Given the description of an element on the screen output the (x, y) to click on. 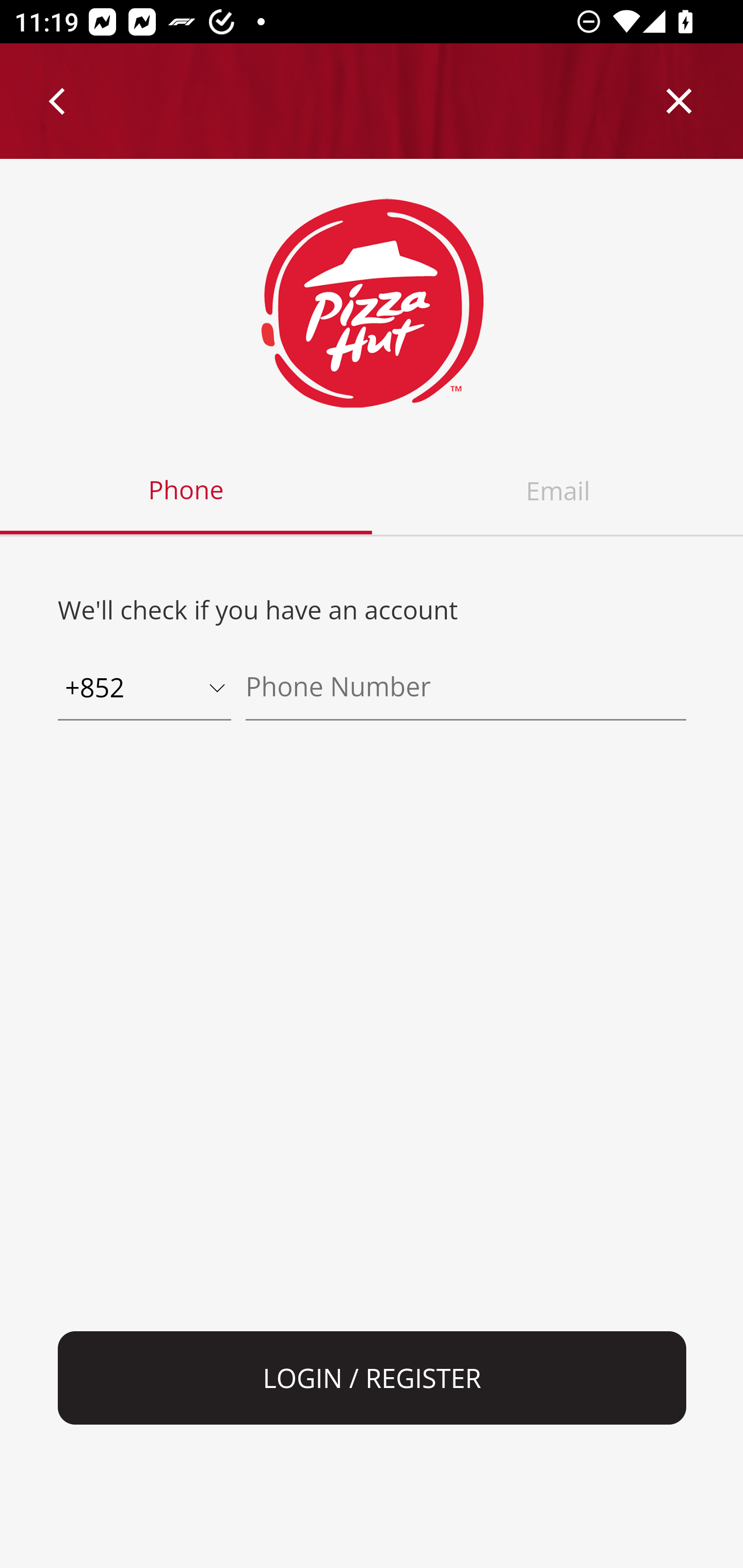
menu (58, 100)
close (679, 100)
Phone (186, 491)
Email (557, 491)
+852 (144, 688)
LOGIN / REGISTER (372, 1377)
